Given the description of an element on the screen output the (x, y) to click on. 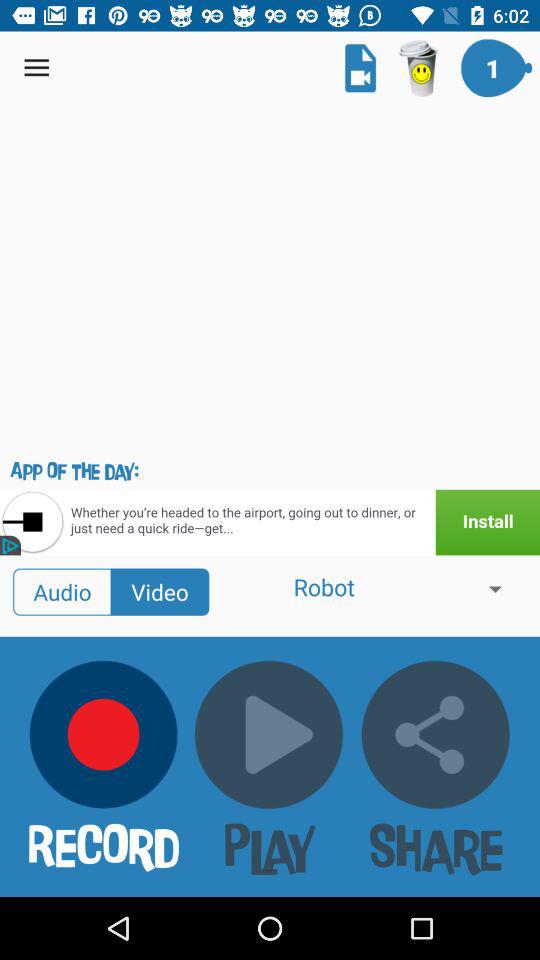
select audio (61, 592)
click the option video (159, 592)
click on the record icon (103, 734)
click on the share button (435, 735)
select the icon on top right corner of the page (496, 67)
